Given the description of an element on the screen output the (x, y) to click on. 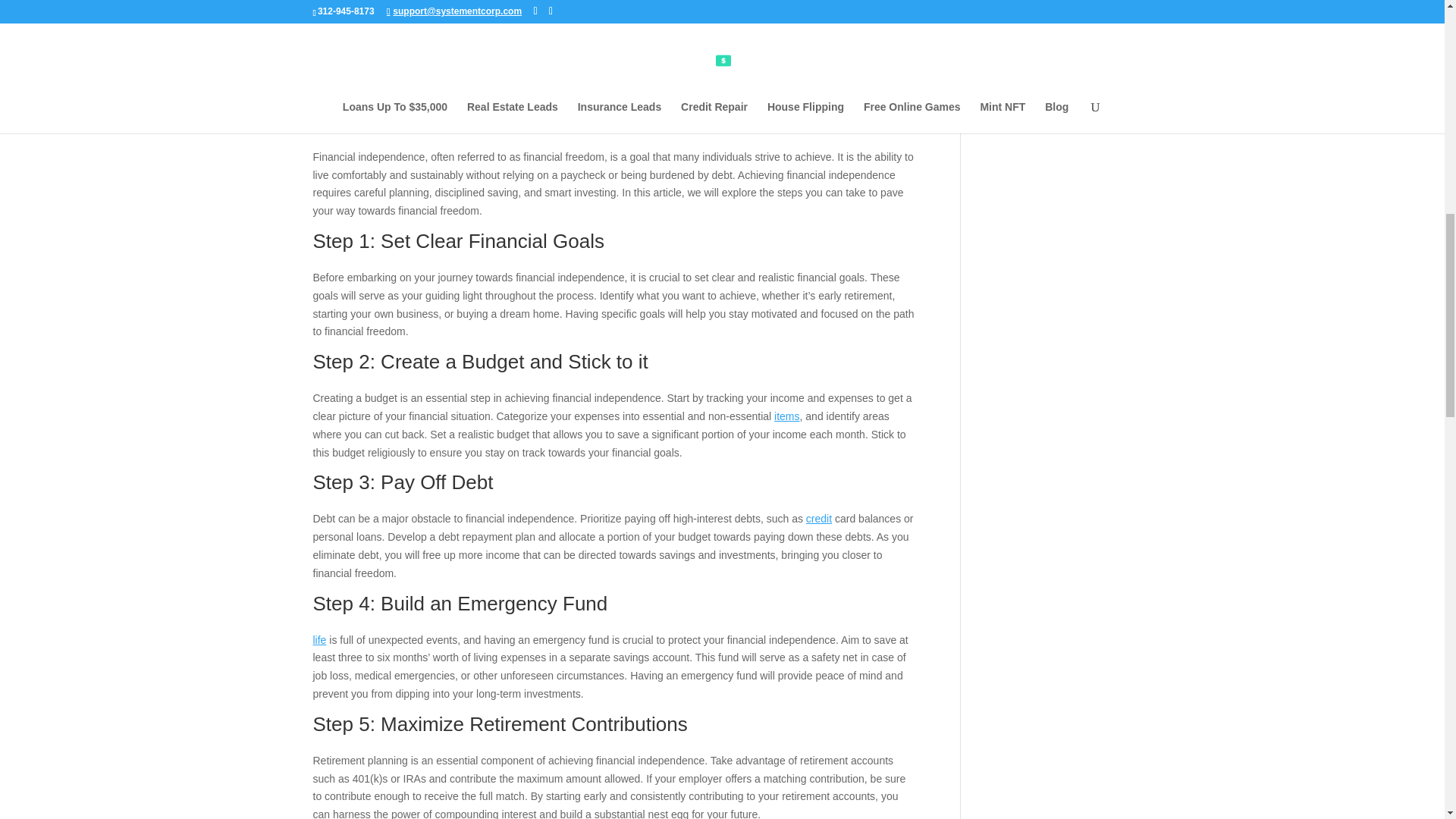
life (319, 639)
items (786, 416)
credit (818, 518)
